Given the description of an element on the screen output the (x, y) to click on. 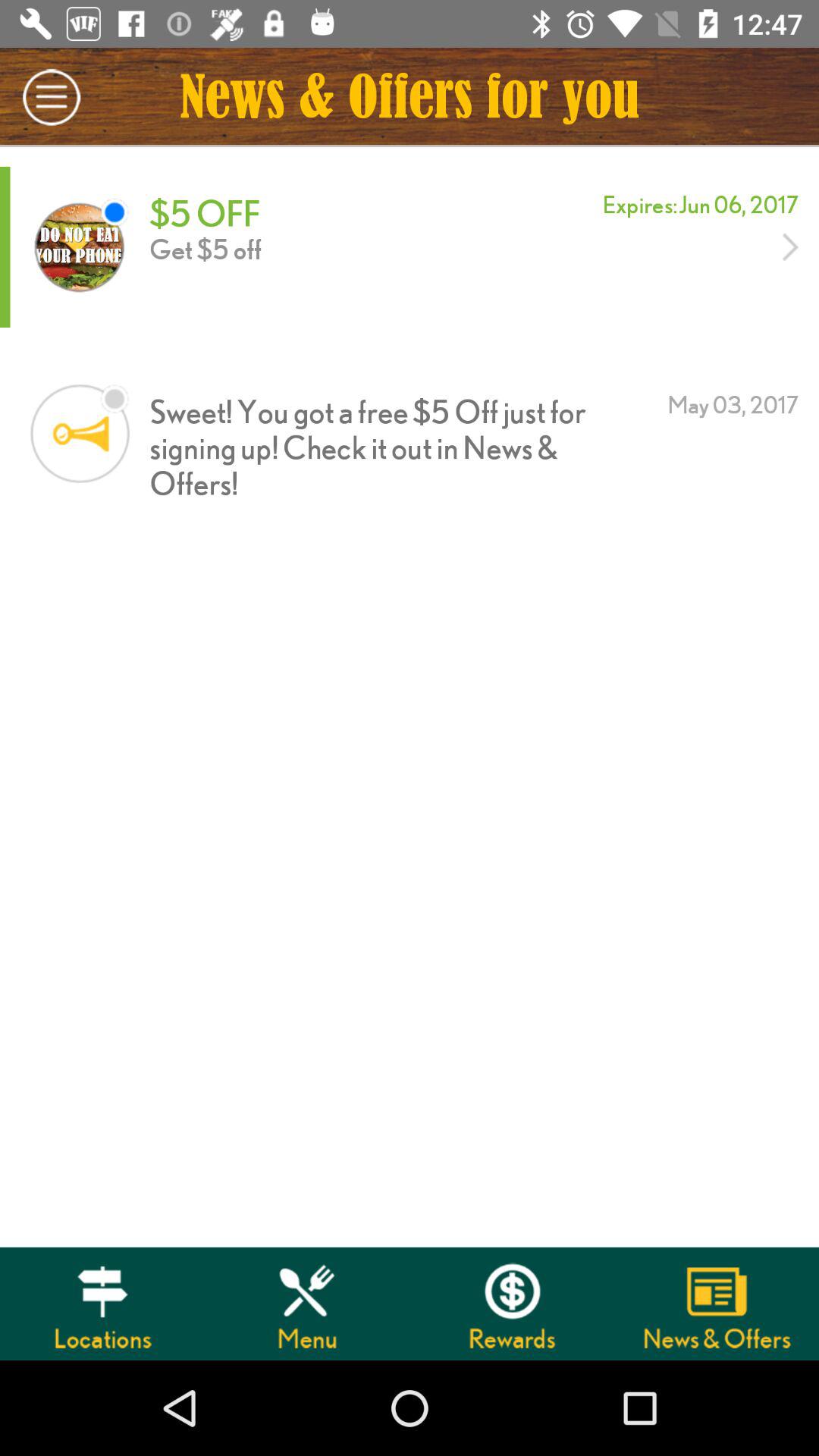
select icon to the left of news offers for (51, 96)
